Given the description of an element on the screen output the (x, y) to click on. 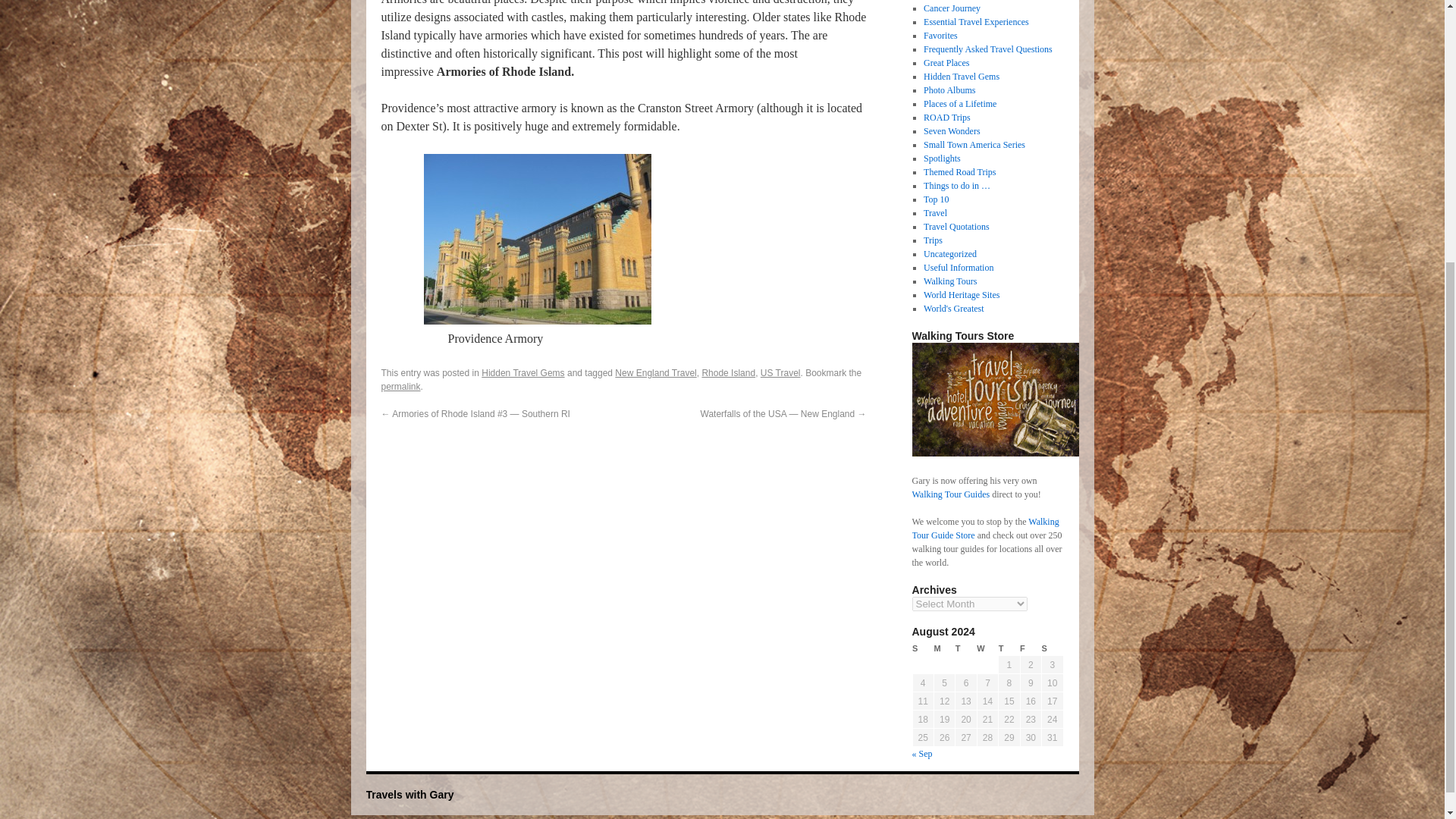
Travel (935, 213)
ROAD Trips (947, 117)
Small Town America Series (974, 144)
permalink (400, 386)
Tuesday (965, 648)
Travels with Gary (408, 794)
Hidden Travel Gems (960, 76)
US Travel (780, 372)
Sunday (922, 648)
New England Travel (654, 372)
